Given the description of an element on the screen output the (x, y) to click on. 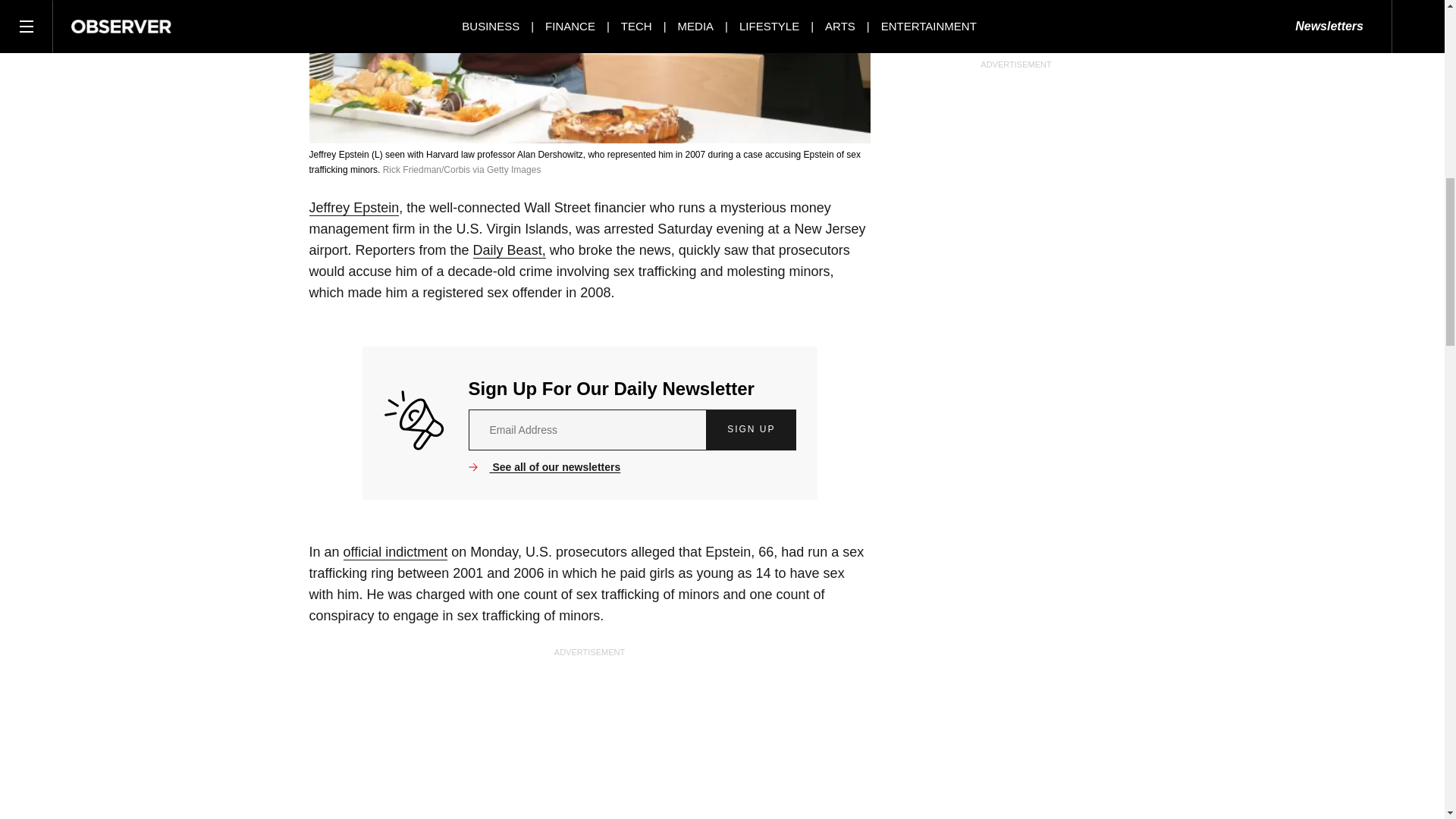
Jeffrey Epstein (353, 207)
